Given the description of an element on the screen output the (x, y) to click on. 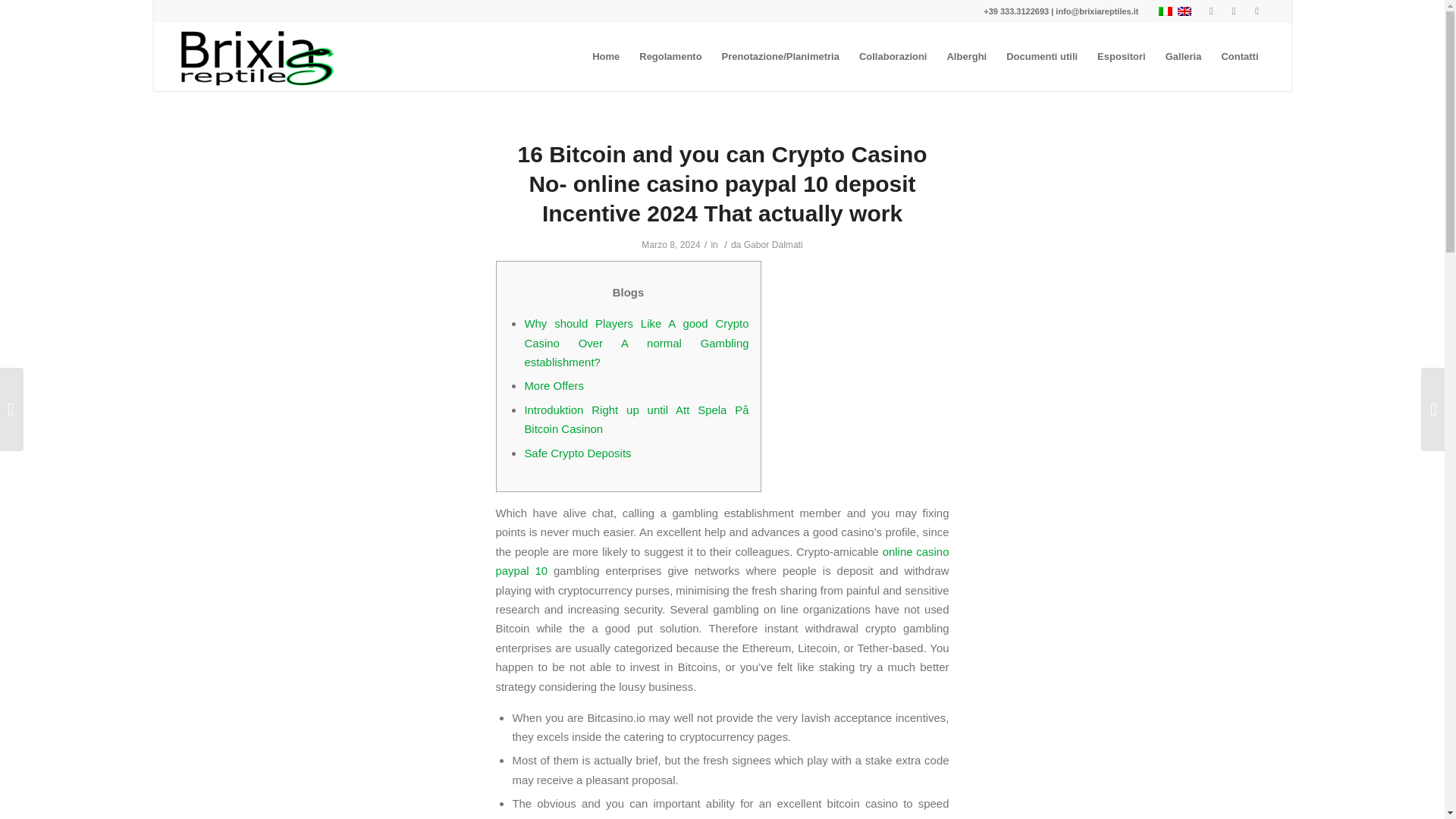
More Offers (553, 385)
Safe Crypto Deposits (577, 452)
Gabor Dalmati (773, 244)
online casino paypal 10 (722, 561)
Documenti utili (1041, 56)
Articoli scritti da Gabor Dalmati (773, 244)
Regolamento (669, 56)
Collaborazioni (892, 56)
